Given the description of an element on the screen output the (x, y) to click on. 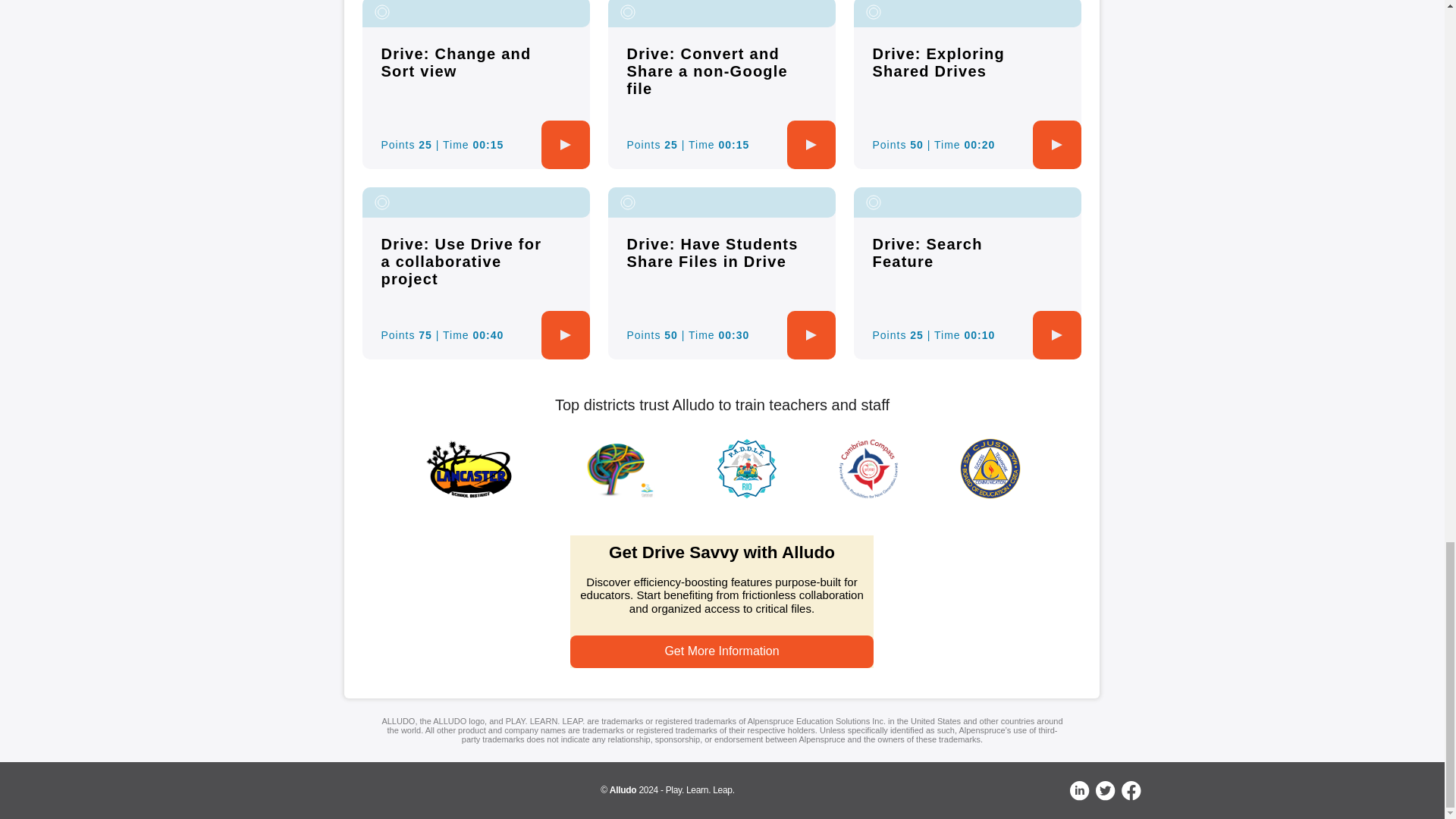
Drive: Have Students Share Files in Drive (711, 252)
Drive: Exploring Shared Drives (938, 62)
Drive: Search Feature (926, 252)
Alludo (623, 789)
Drive: Use Drive for a collaborative project (460, 261)
Embedded CTA (721, 601)
Drive: Convert and Share a non-Google file (706, 71)
Drive: Change and Sort view (455, 62)
